Given the description of an element on the screen output the (x, y) to click on. 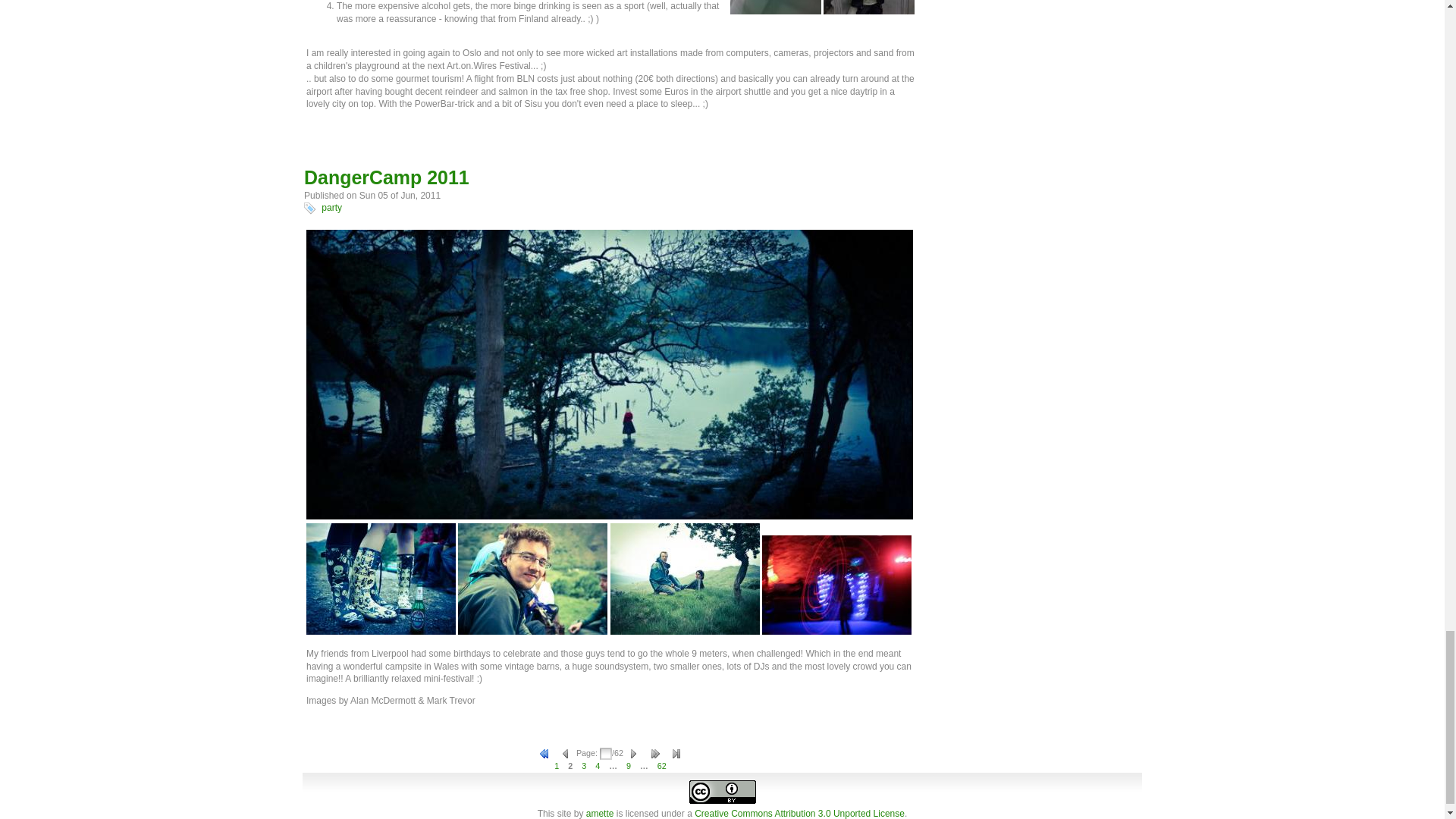
Last Page (675, 753)
DangerCamp 2011 (386, 177)
Prev Page (565, 753)
Next Page (633, 753)
Fast Next (655, 753)
Tags (309, 208)
party (331, 207)
Fast Prev (544, 753)
